Given the description of an element on the screen output the (x, y) to click on. 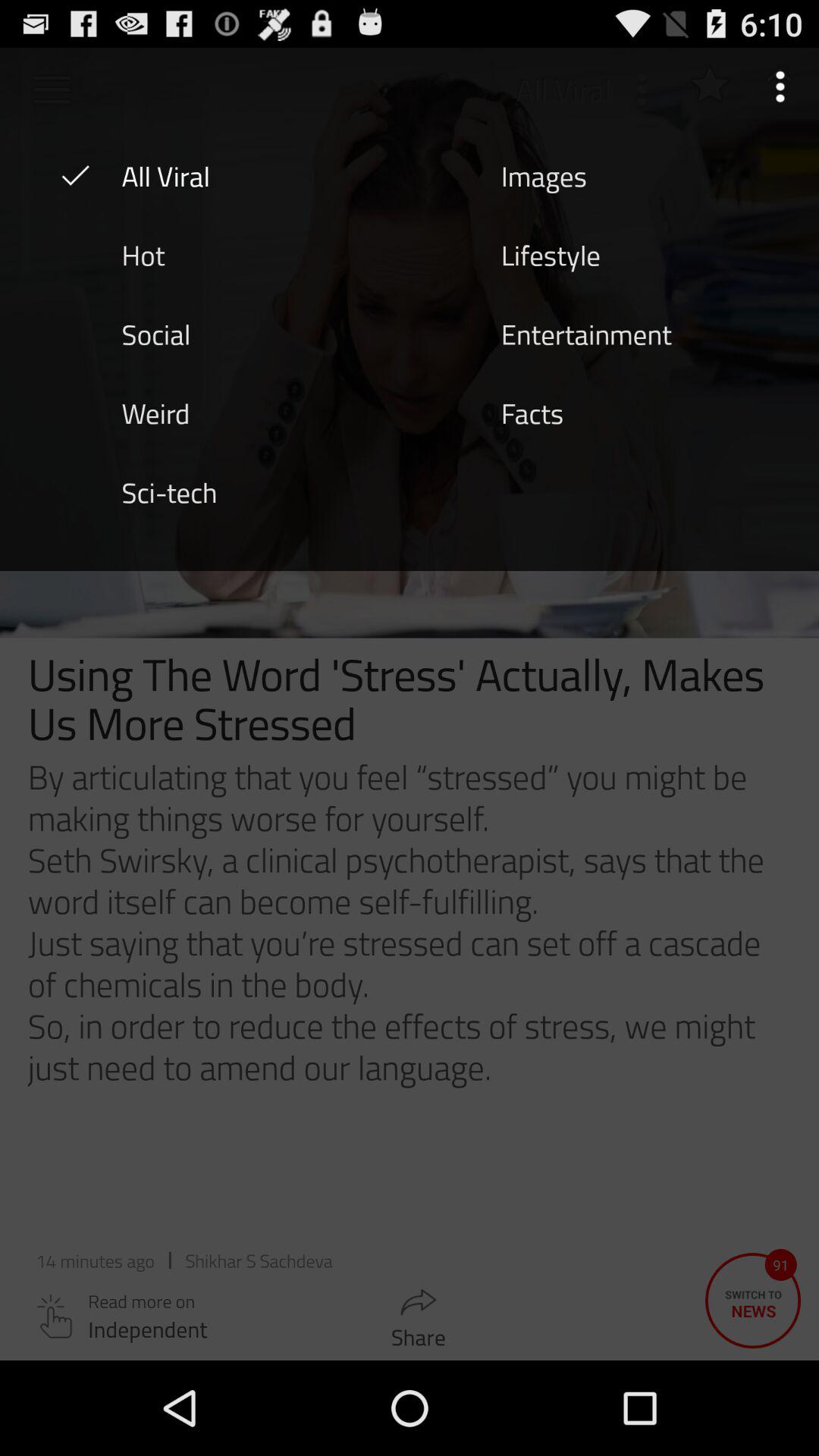
turn on the item next to the weird icon (531, 411)
